Given the description of an element on the screen output the (x, y) to click on. 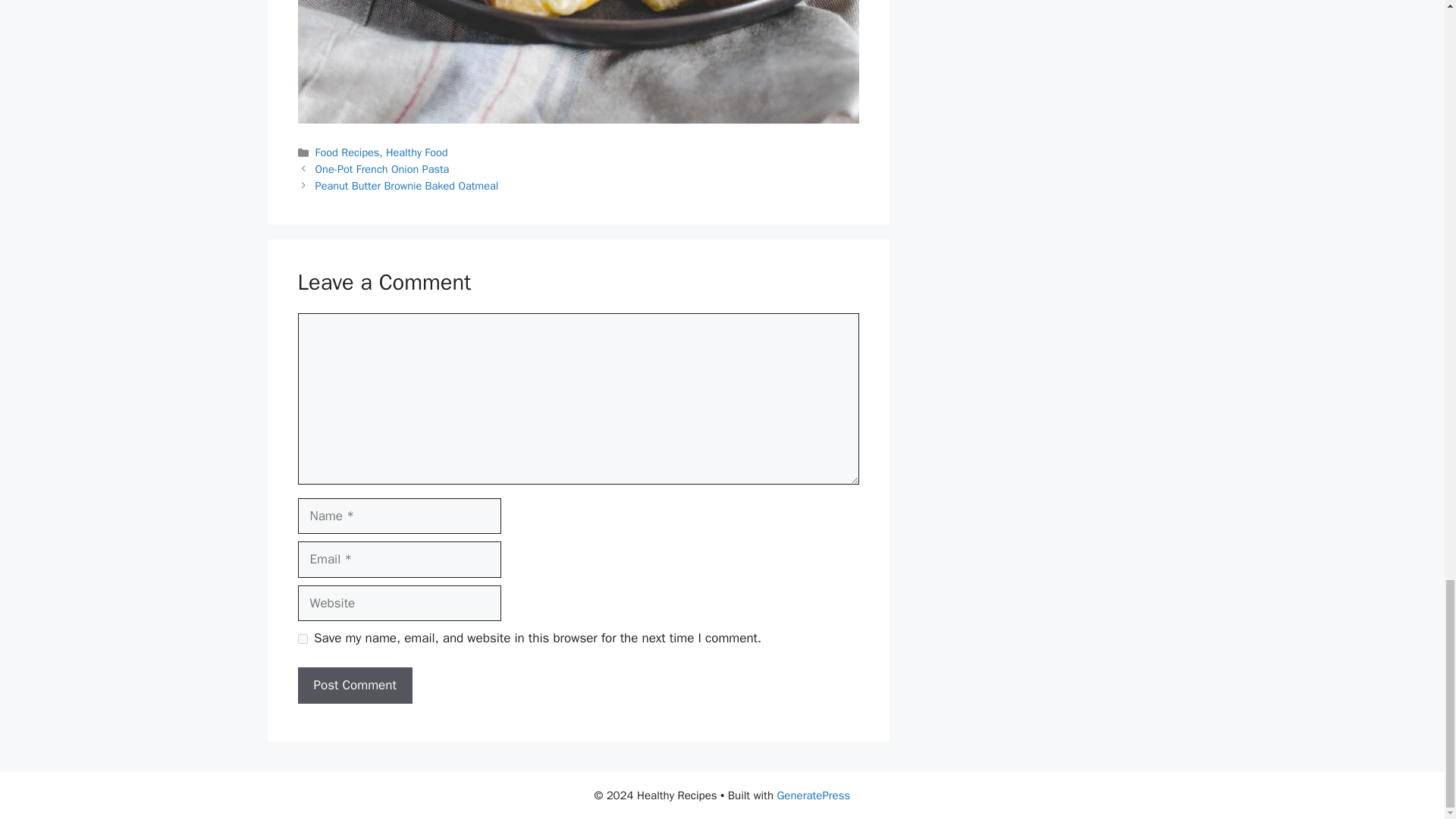
Healthy Food (416, 151)
Food Recipes (347, 151)
Peanut Butter Brownie Baked Oatmeal (407, 185)
GeneratePress (813, 795)
Post Comment (354, 685)
One-Pot French Onion Pasta (382, 169)
yes (302, 638)
Post Comment (354, 685)
